Given the description of an element on the screen output the (x, y) to click on. 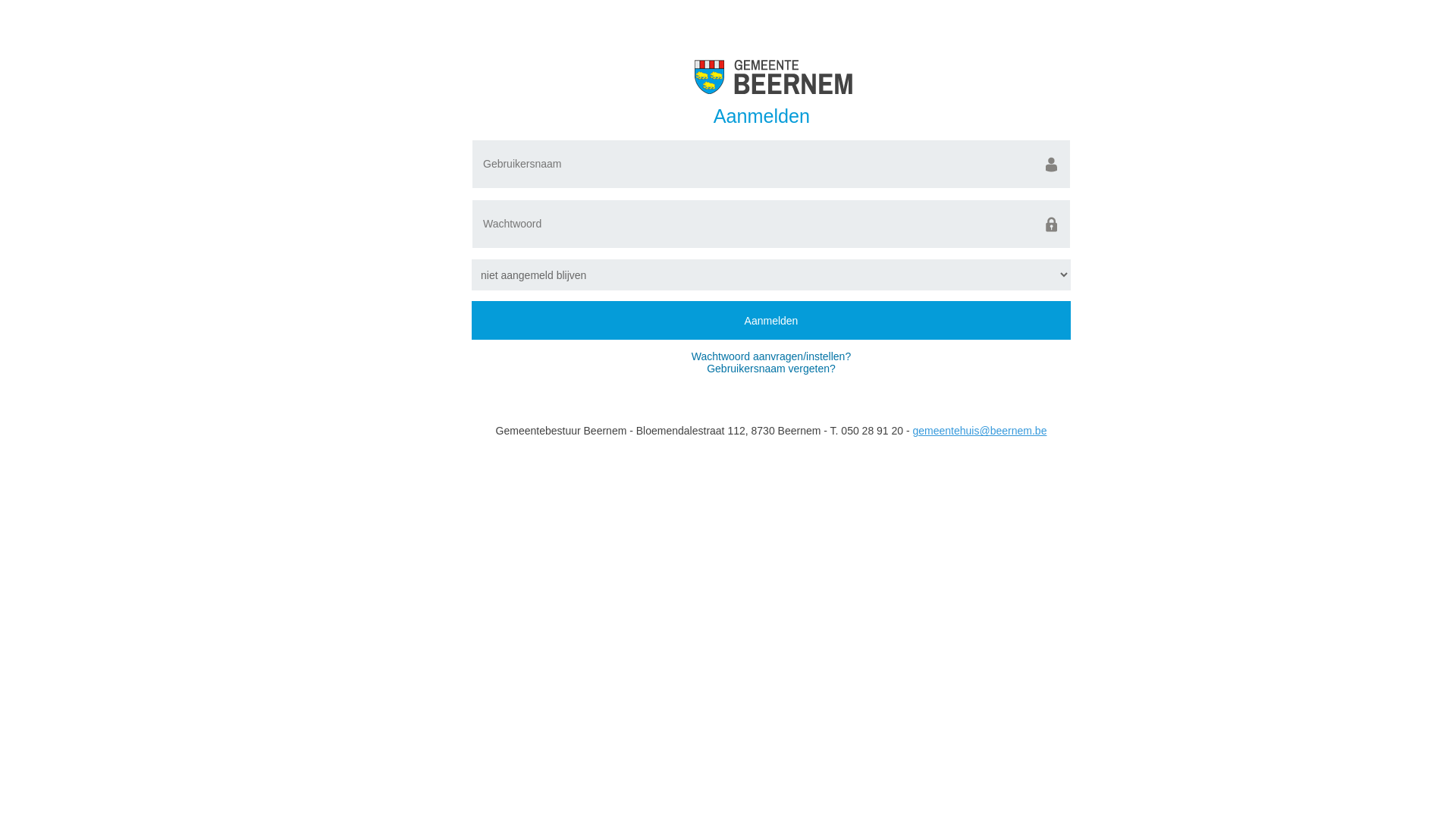
gemeentehuis@beernem.be Element type: text (980, 430)
Wachtwoord aanvragen/instellen? Element type: text (770, 356)
Aanmelden Element type: text (770, 320)
Gebruikersnaam vergeten? Element type: text (770, 368)
